Given the description of an element on the screen output the (x, y) to click on. 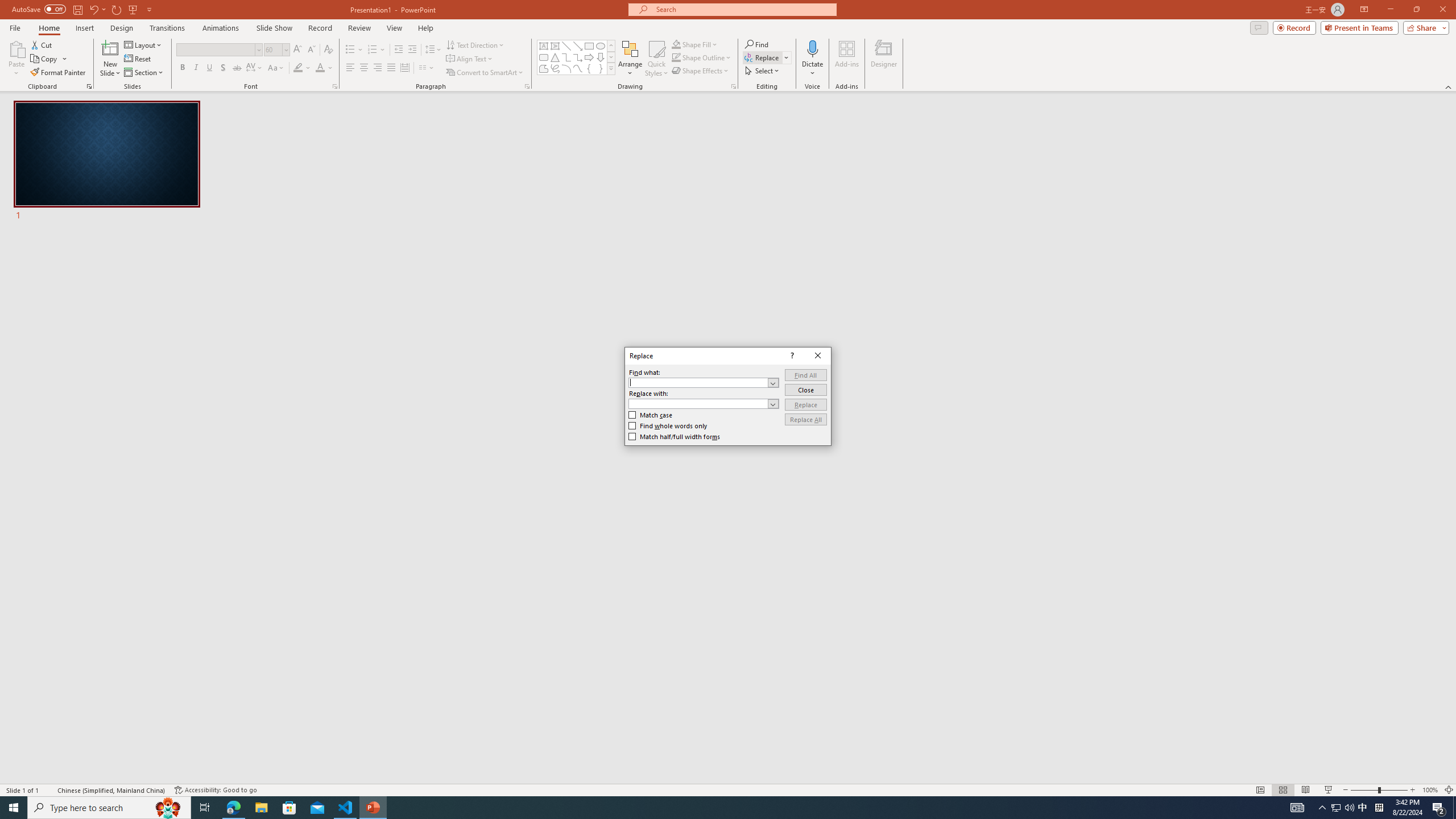
Increase Indent (412, 49)
Font Color (324, 67)
Justify (390, 67)
Align Left (349, 67)
Columns (426, 67)
Replace with (703, 403)
Line Arrow (577, 45)
Find what (703, 382)
Paragraph... (526, 85)
Clear Formatting (327, 49)
